Given the description of an element on the screen output the (x, y) to click on. 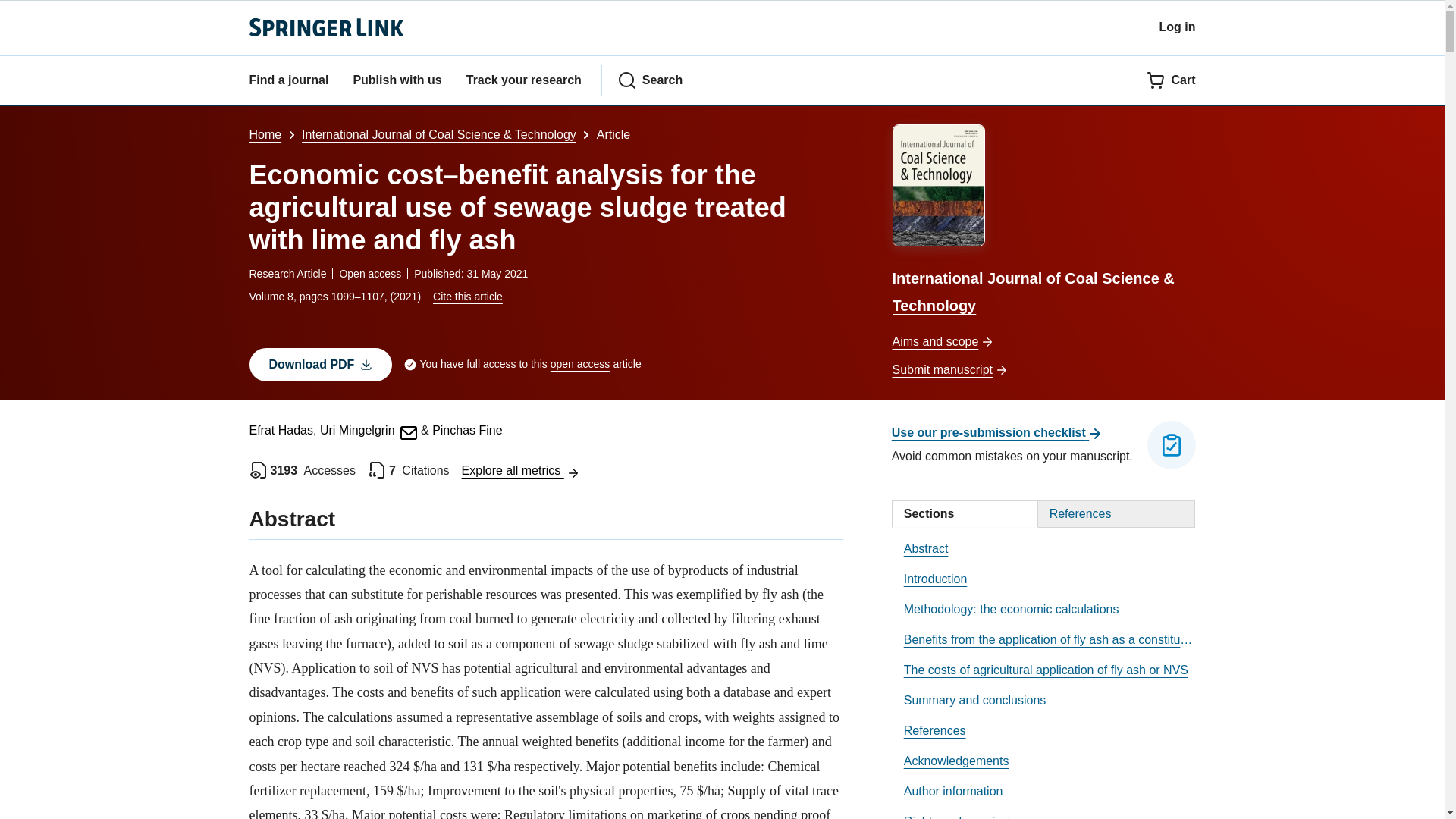
Publish with us (396, 79)
Efrat Hadas (280, 430)
Uri Mingelgrin (368, 430)
Aims and scope (1043, 341)
Log in (1177, 26)
Search (649, 79)
Home (264, 133)
Explore all metrics (520, 470)
Cite this article (467, 296)
